Given the description of an element on the screen output the (x, y) to click on. 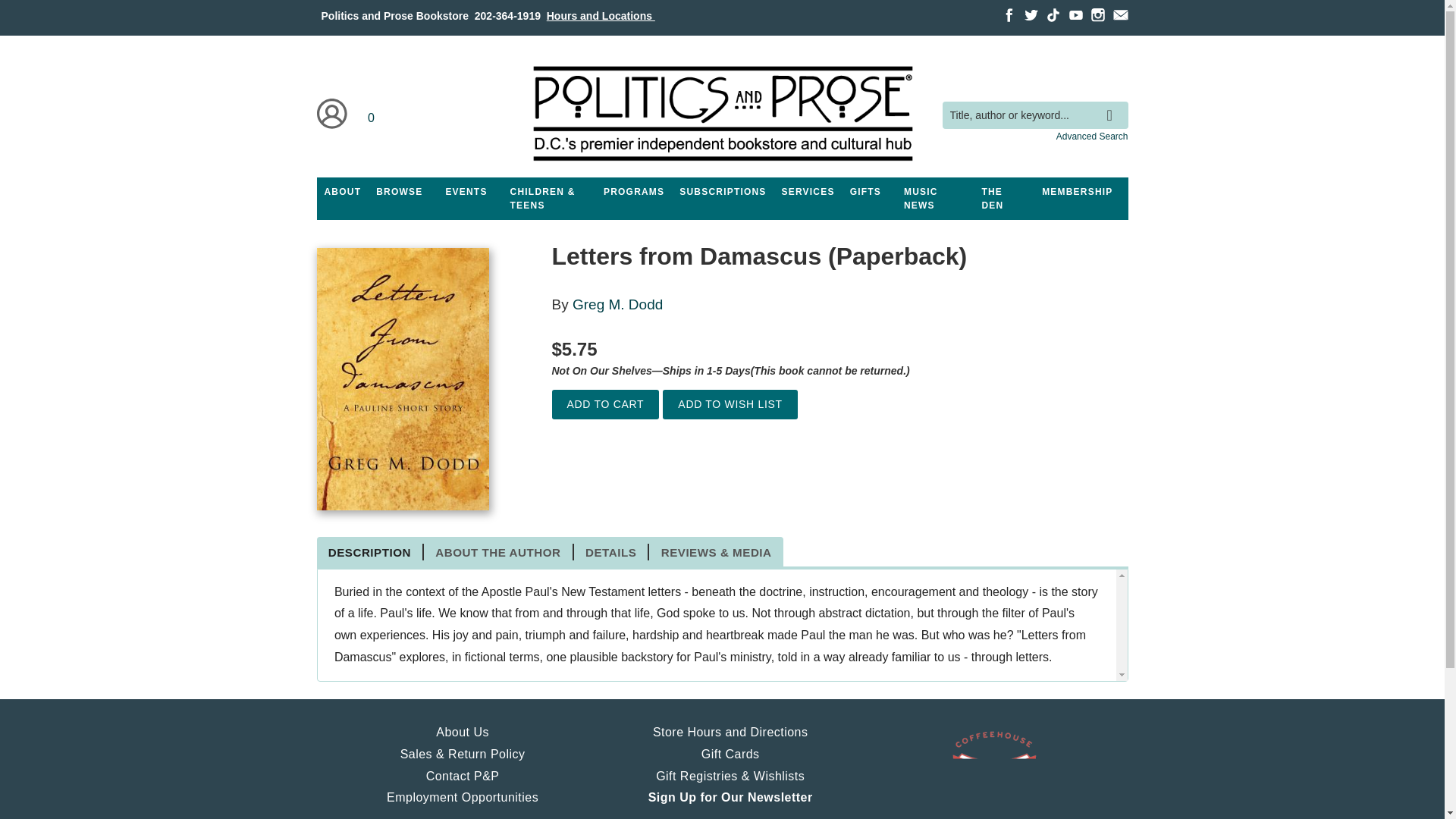
Advanced Search (1092, 136)
Add to Wish List (729, 404)
Add to Cart (605, 404)
search (1112, 103)
Children and Teens Department (548, 198)
EVENTS (465, 191)
See our event calendar (465, 191)
ABOUT (343, 191)
Browse our shelves (398, 191)
See our store ours and locations (601, 15)
PROGRAMS (633, 191)
Hours and Locations  (601, 15)
search (1112, 103)
SUBSCRIPTIONS (722, 191)
